Given the description of an element on the screen output the (x, y) to click on. 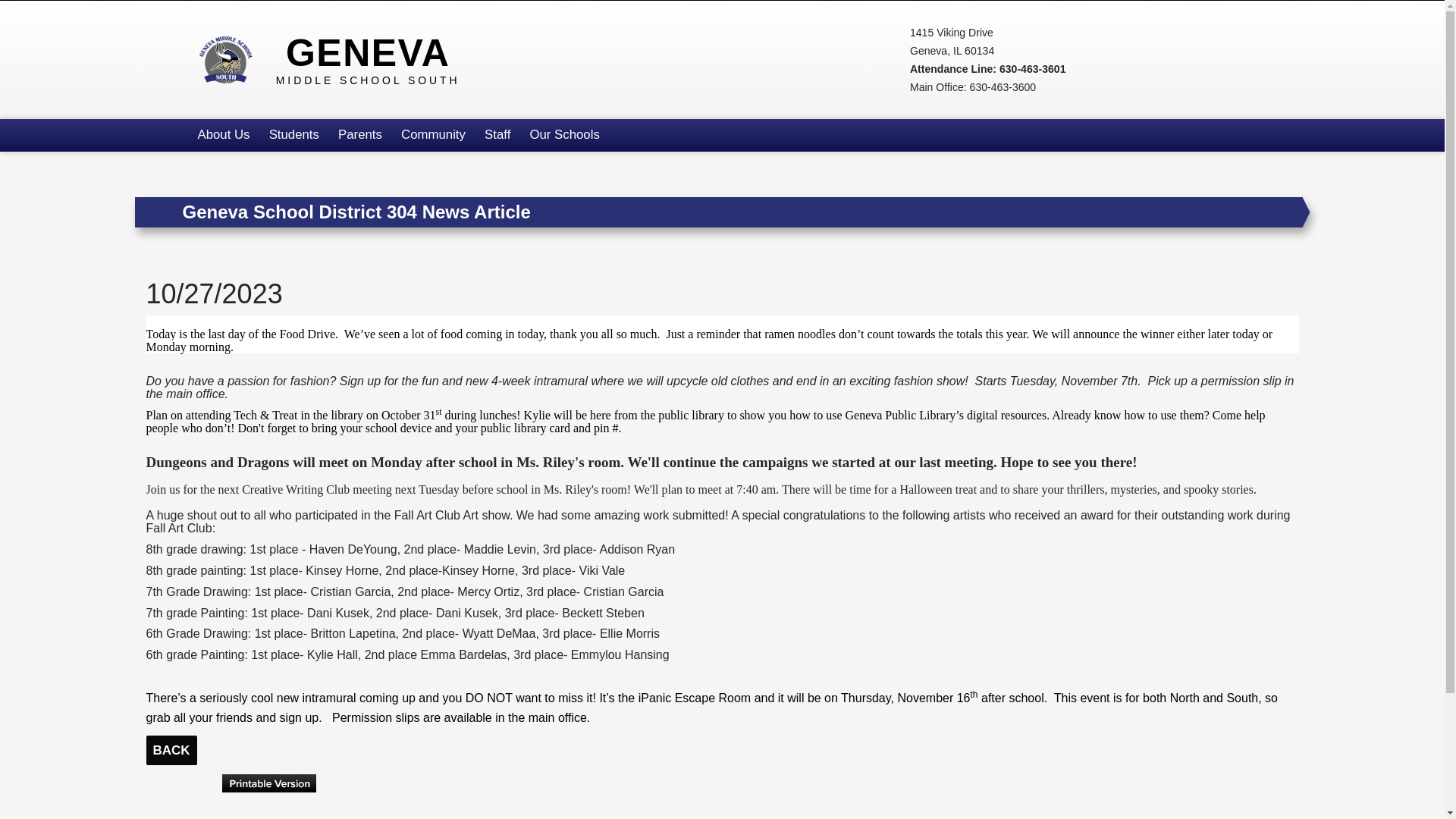
Students (293, 135)
About Us (336, 59)
